Given the description of an element on the screen output the (x, y) to click on. 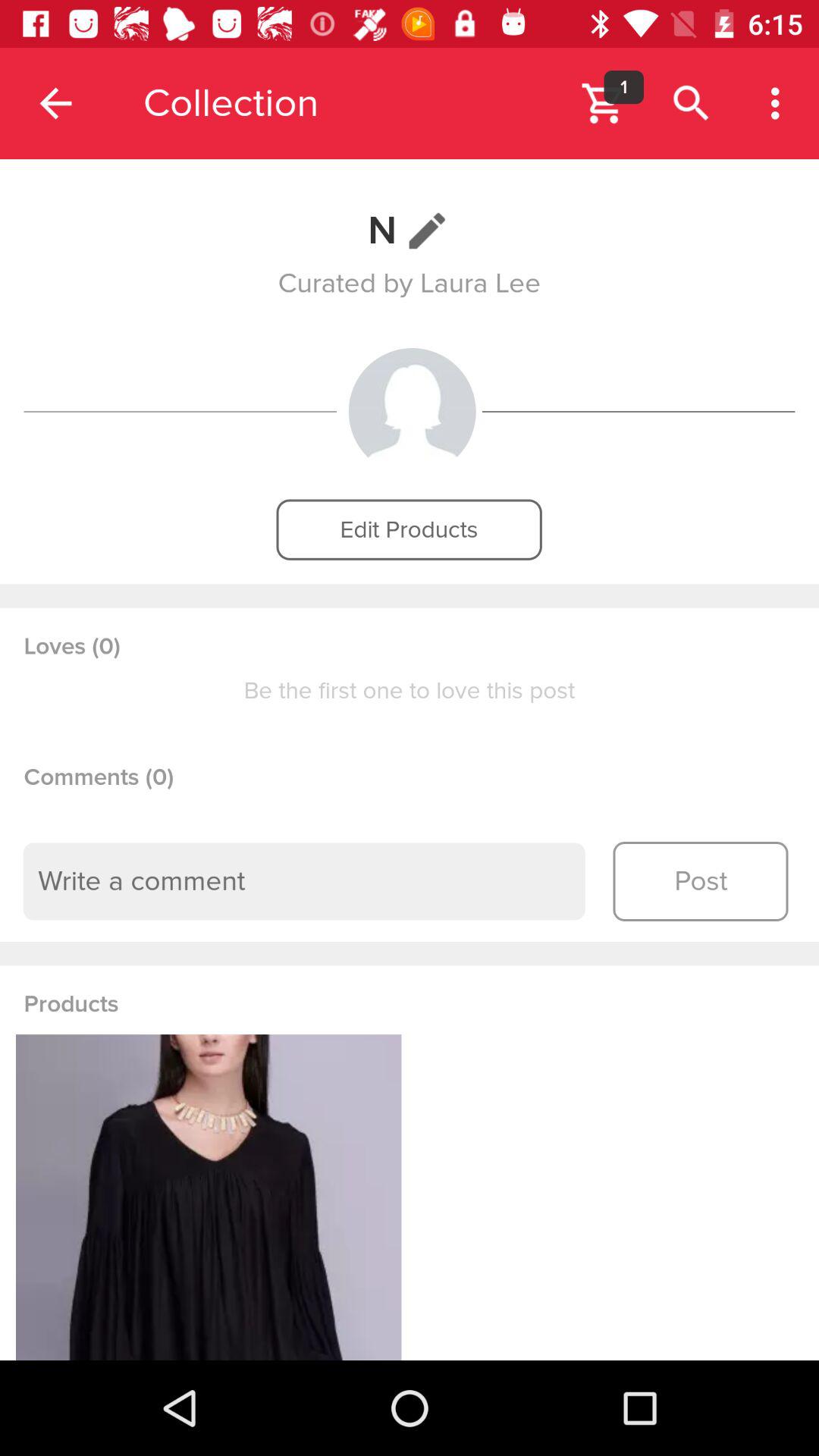
turn off 1 item (623, 87)
